Given the description of an element on the screen output the (x, y) to click on. 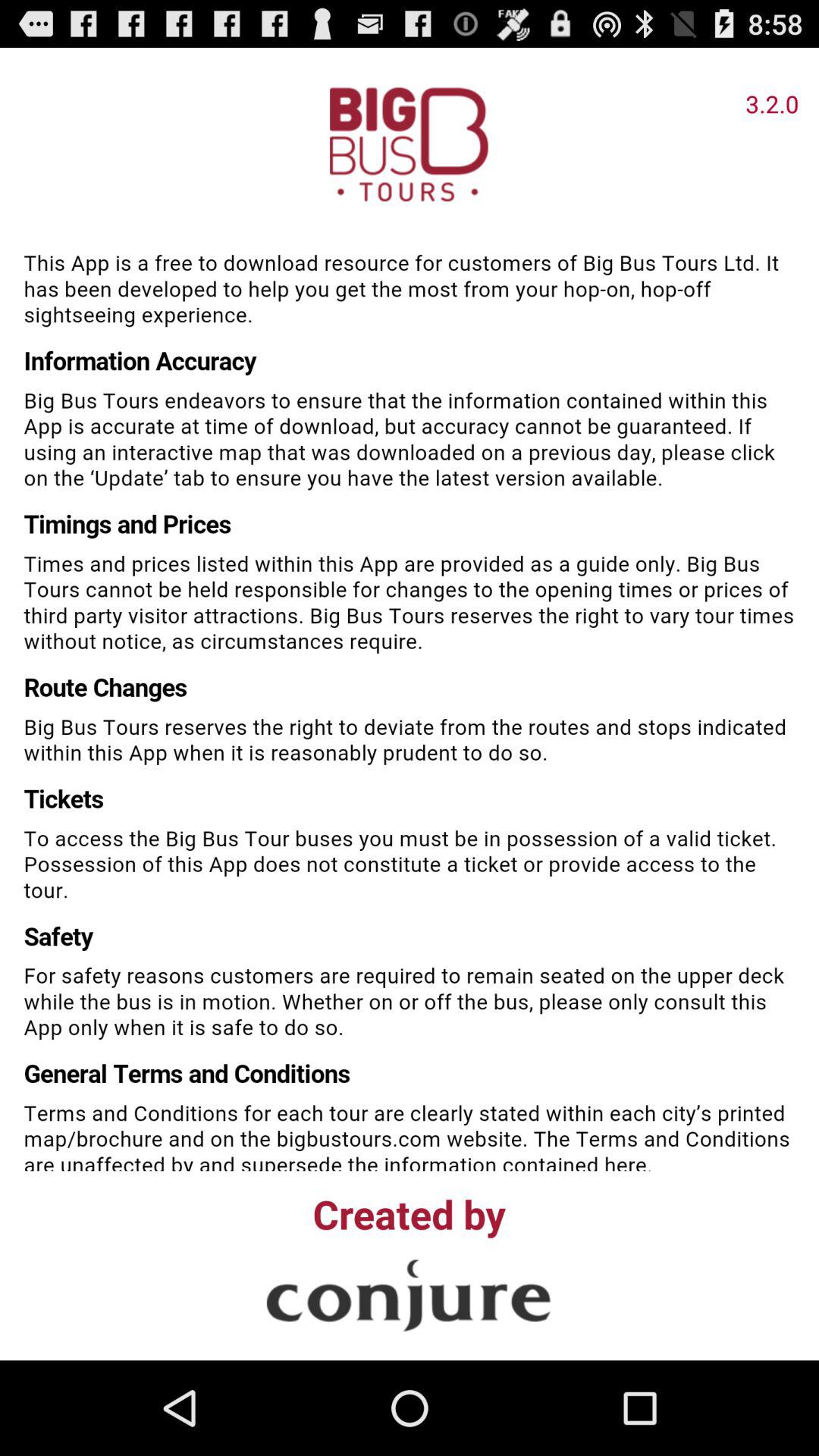
visit company site (408, 1295)
